Given the description of an element on the screen output the (x, y) to click on. 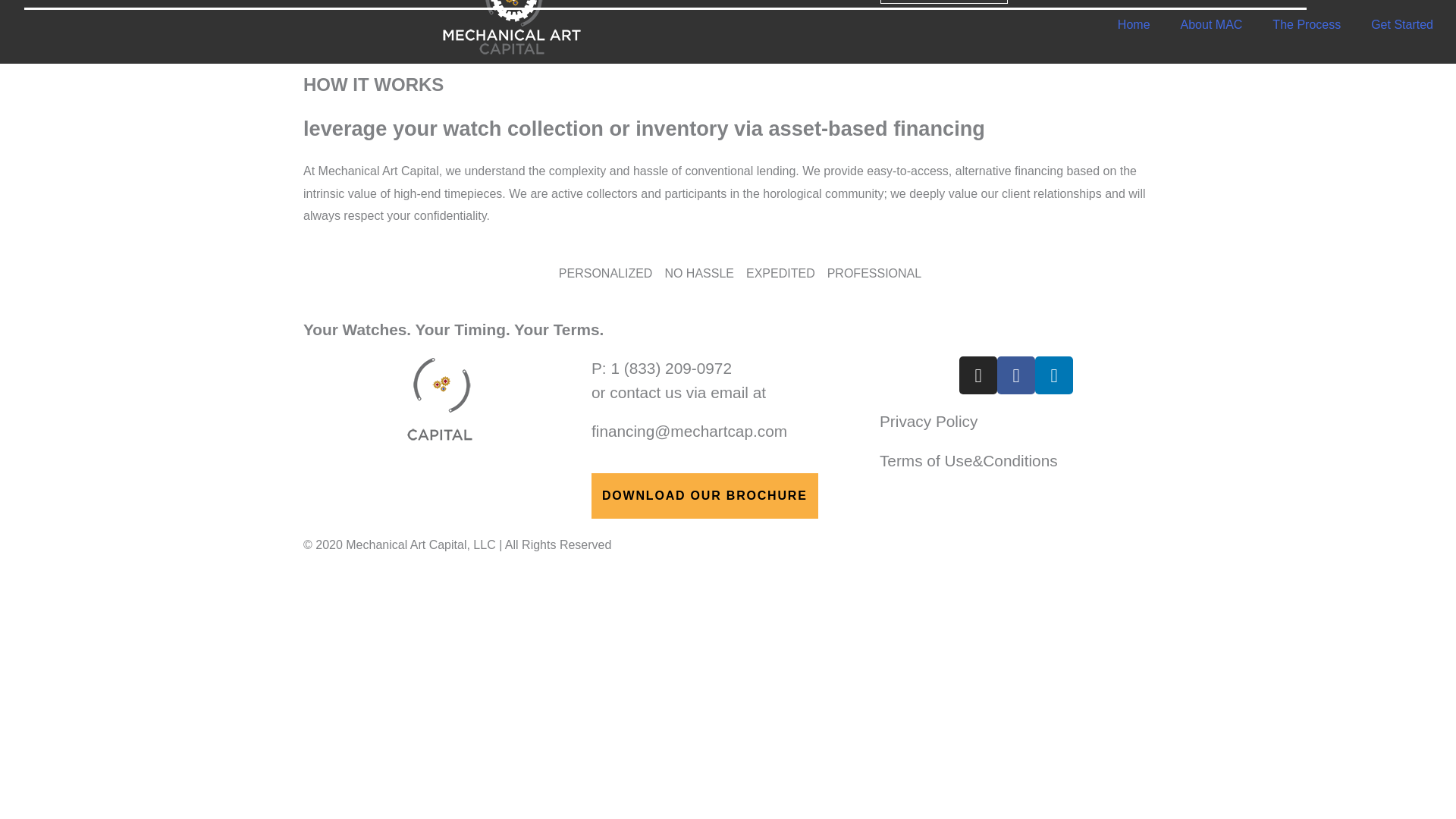
DOWNLOAD OUR BROCHURE (704, 495)
Privacy Policy (927, 420)
The Process (1306, 24)
Get Started (1401, 24)
Home (1134, 24)
About MAC (1211, 24)
